Given the description of an element on the screen output the (x, y) to click on. 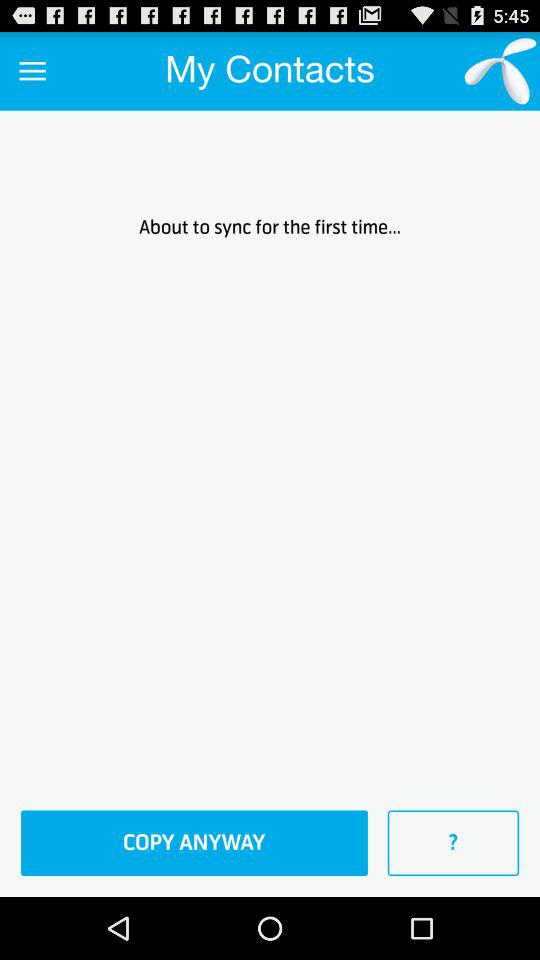
select item below the about to sync (194, 843)
